Given the description of an element on the screen output the (x, y) to click on. 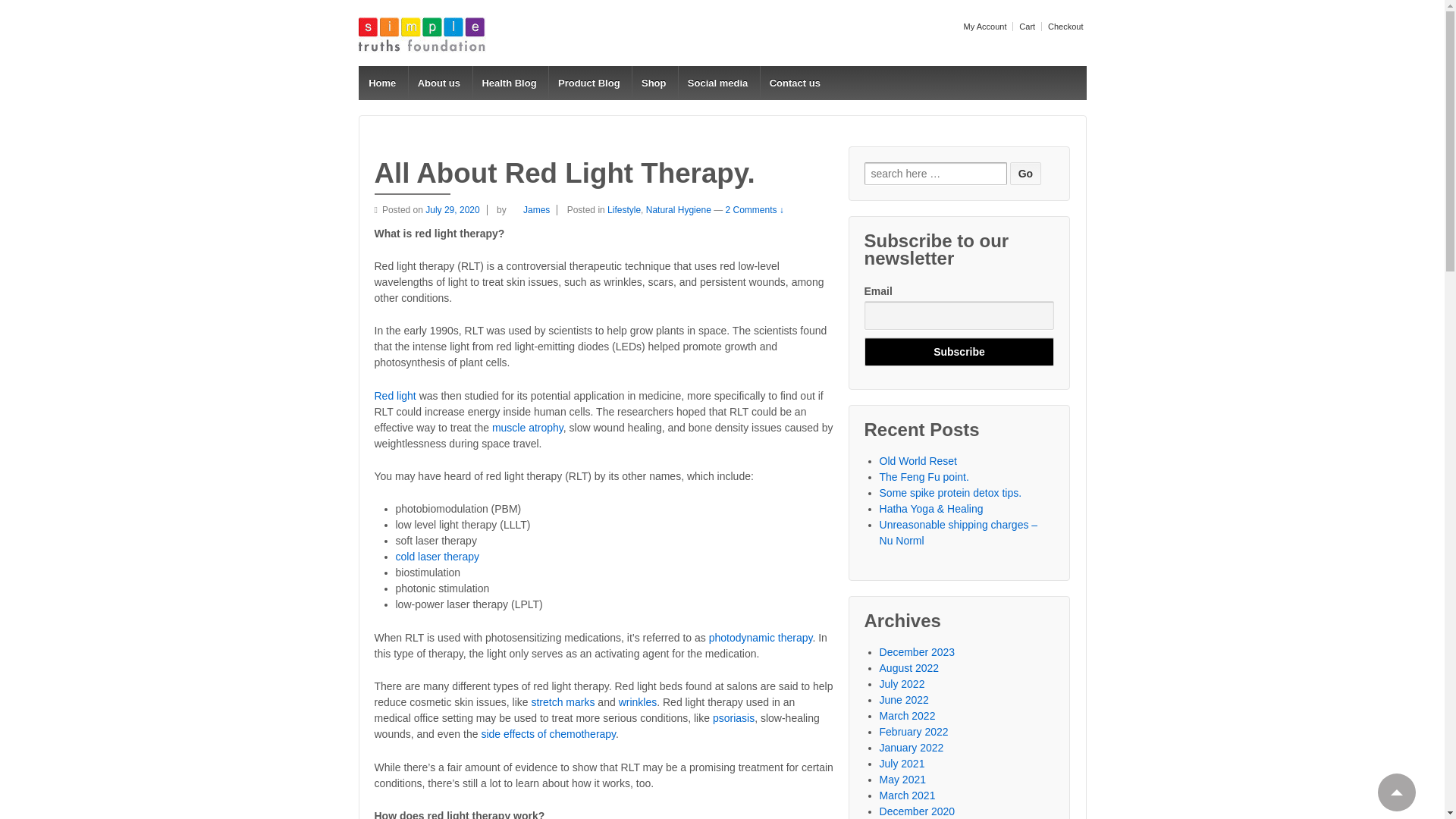
Product Blog (588, 82)
stretch marks (562, 702)
Health Blog (508, 82)
Home (381, 82)
Shop (653, 82)
muscle atrophy (527, 427)
Subscribe (959, 351)
All About Red Light Therapy. (455, 209)
side effects of chemotherapy (547, 734)
About us (437, 82)
Checkout (1063, 26)
Lifestyle (623, 209)
Go (1025, 173)
James (529, 209)
photodynamic therapy (760, 637)
